Given the description of an element on the screen output the (x, y) to click on. 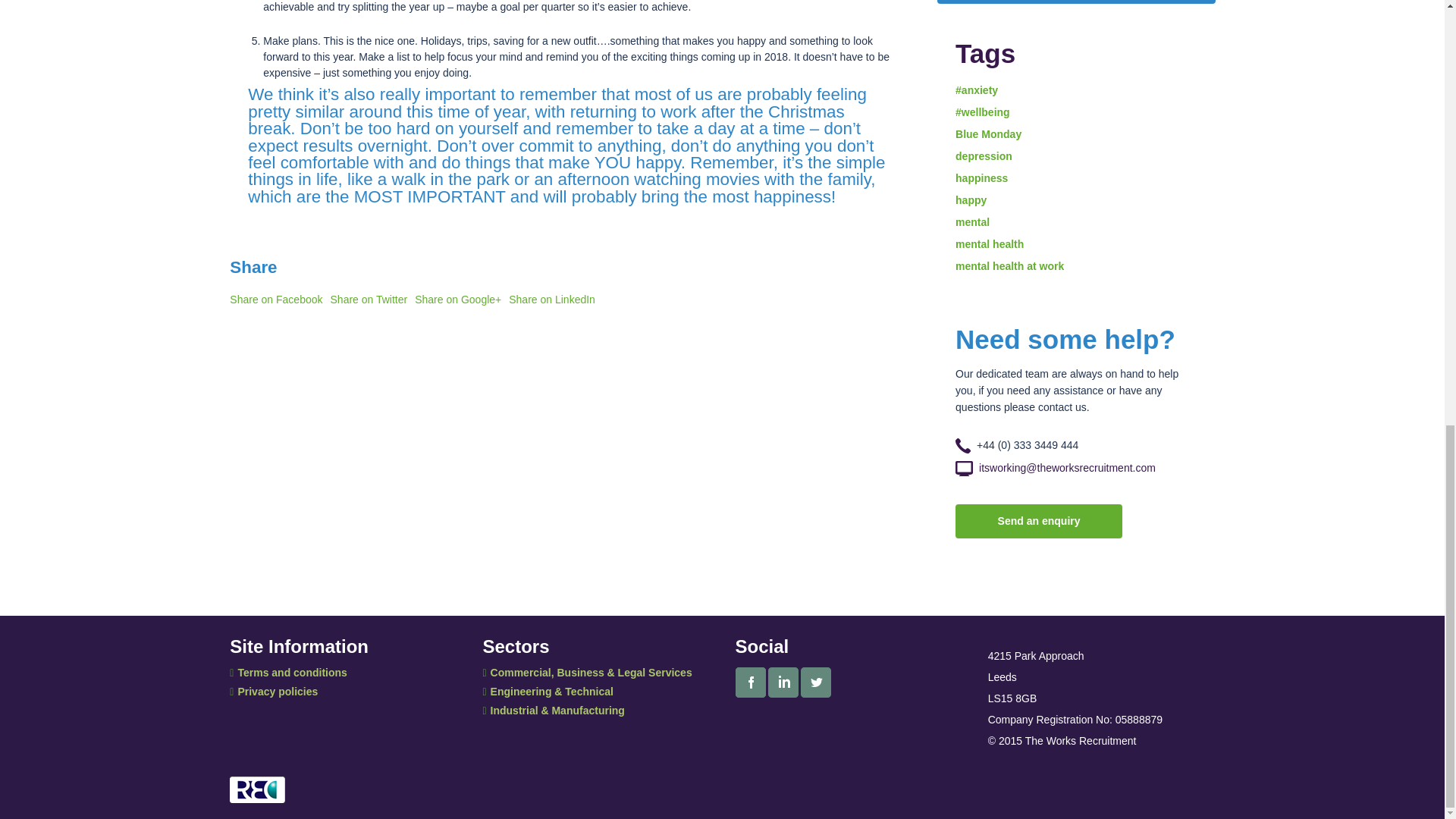
Send an enquiry (1038, 521)
happiness (981, 177)
depression (983, 155)
mental health at work (1009, 265)
happy (971, 200)
Share on Twitter (368, 299)
Share on Facebook (275, 299)
Blue Monday (988, 133)
Share on LinkedIn (551, 299)
mental health (989, 244)
Terms and conditions (288, 672)
mental (972, 222)
